Given the description of an element on the screen output the (x, y) to click on. 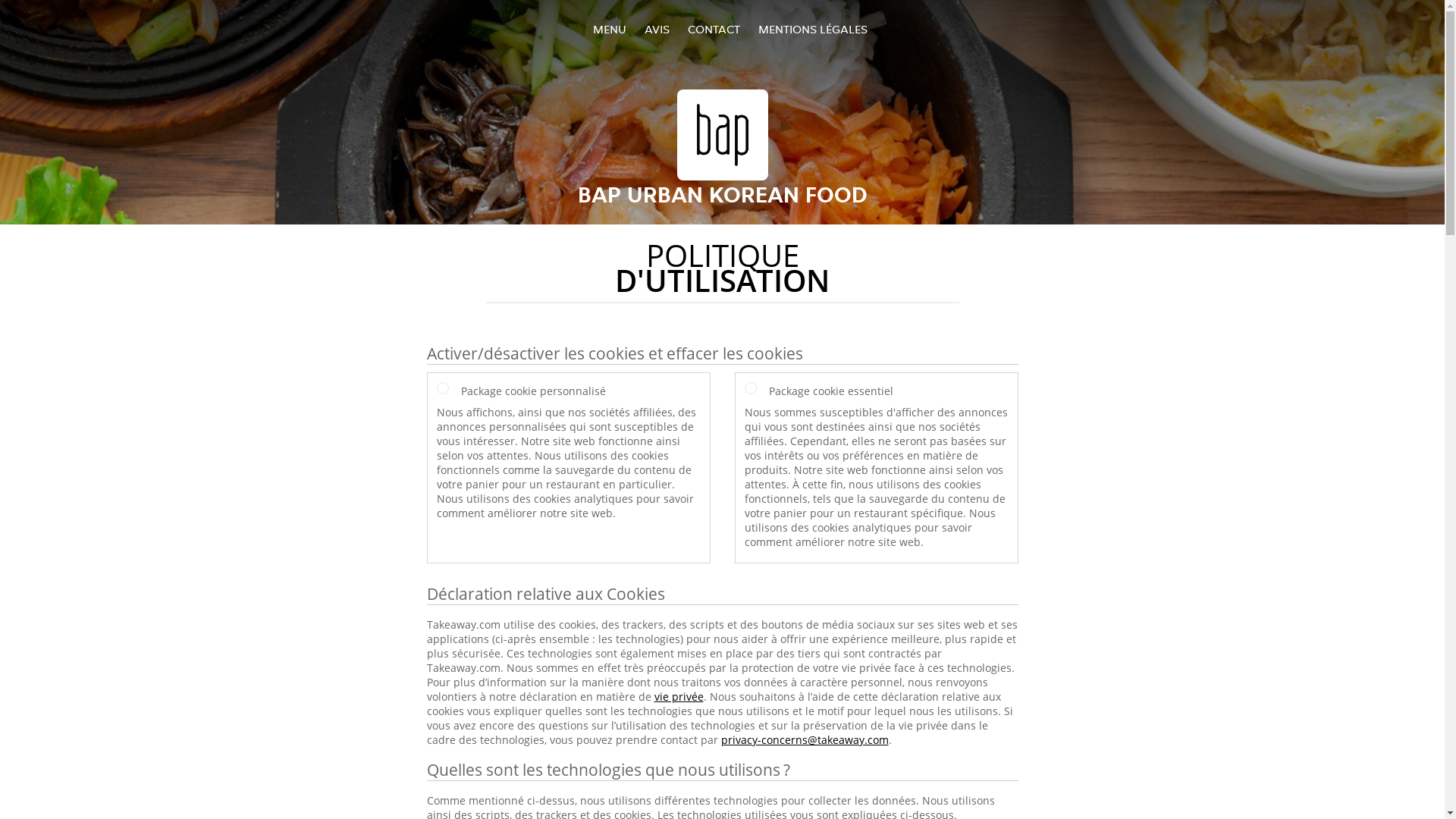
privacy-concerns@takeaway.com Element type: text (804, 739)
CONTACT Element type: text (713, 29)
MENU Element type: text (609, 29)
AVIS Element type: text (656, 29)
